Given the description of an element on the screen output the (x, y) to click on. 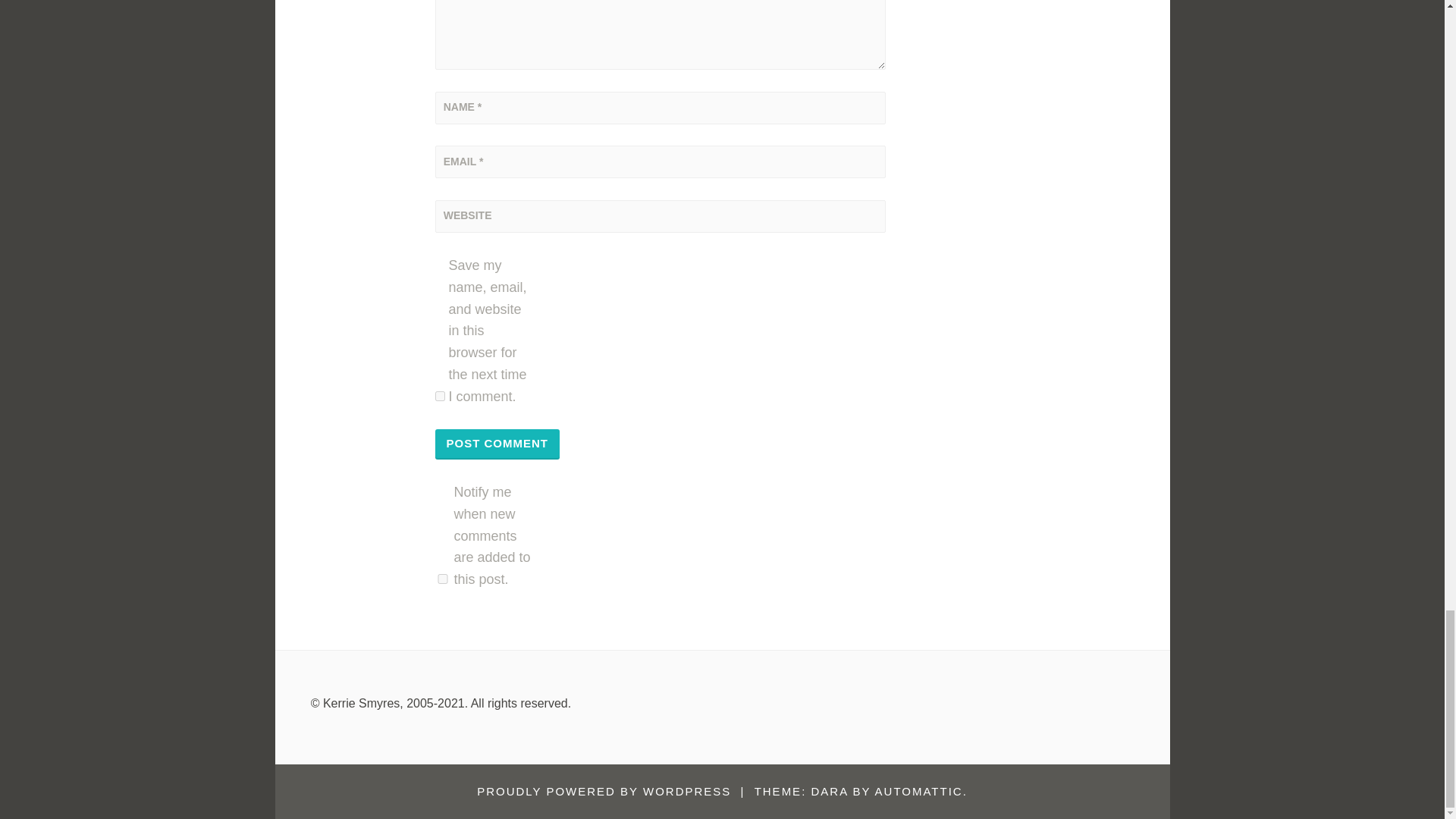
Post Comment (497, 444)
Post Comment (497, 444)
yes (440, 396)
1 (442, 578)
